Given the description of an element on the screen output the (x, y) to click on. 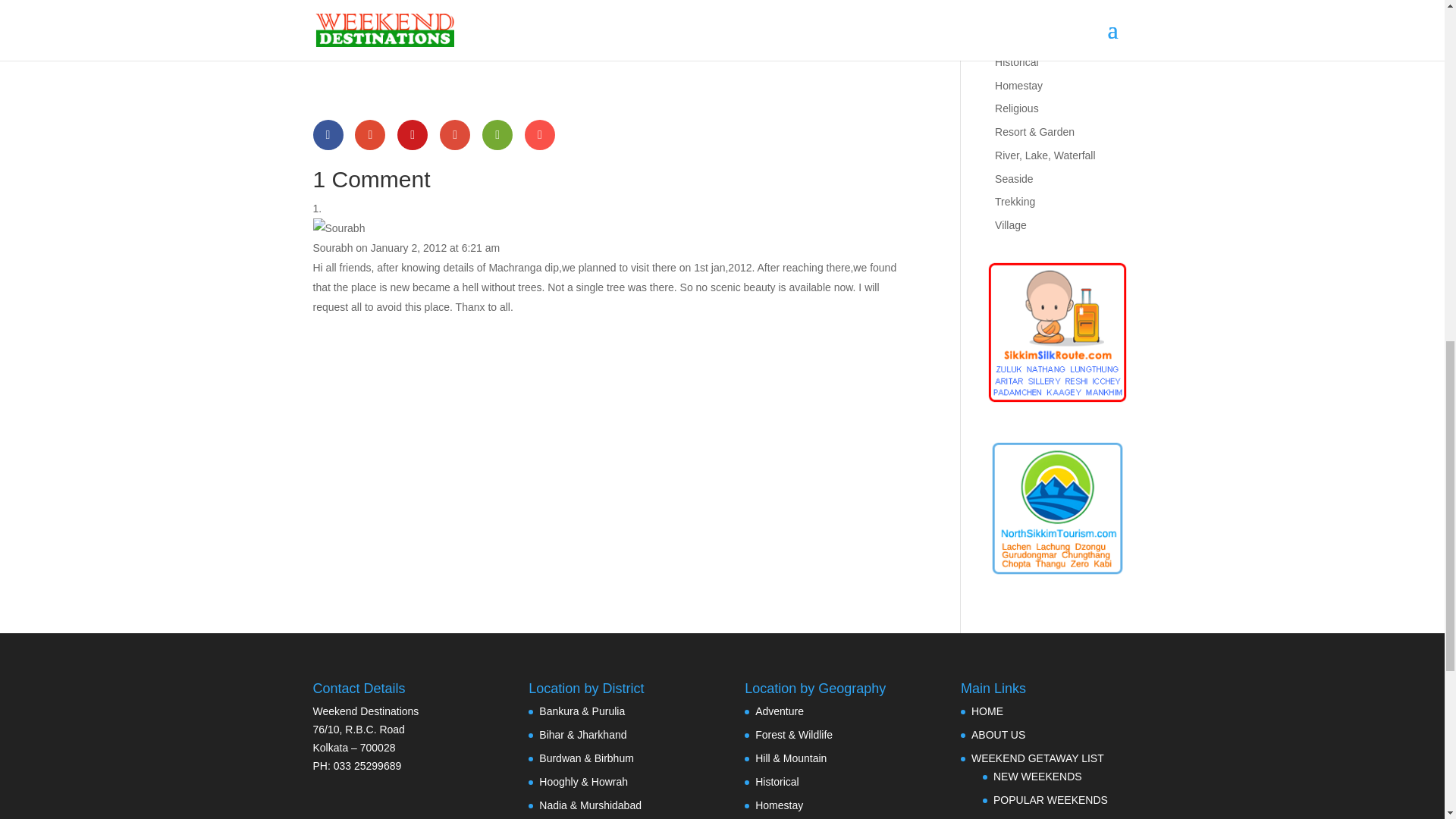
Advertisement (489, 67)
